Given the description of an element on the screen output the (x, y) to click on. 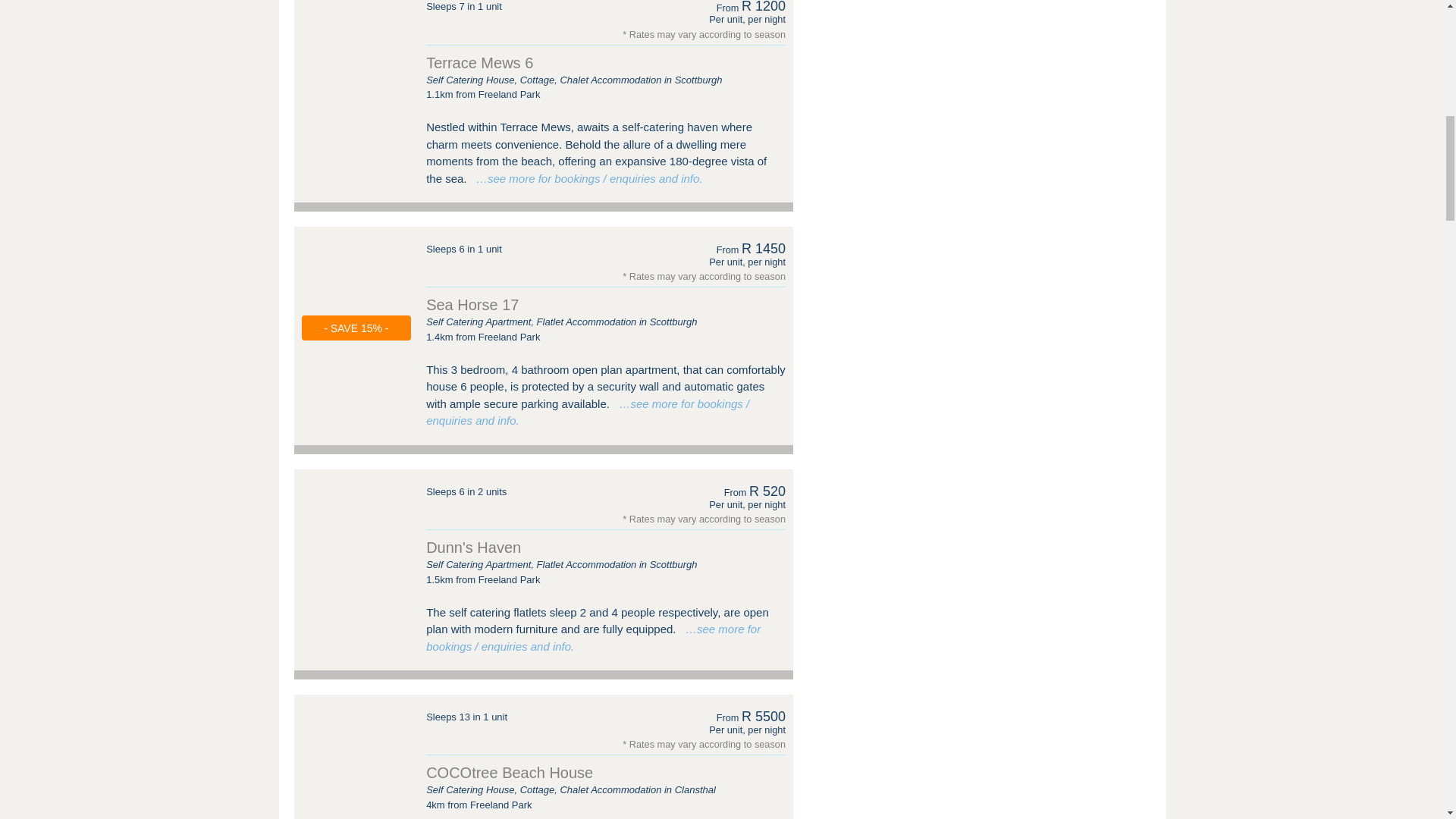
Sleeps 6 in 1 unit (464, 249)
Sea Horse 17 (356, 270)
Dunn's Haven (356, 512)
Terrace Mews 6 (356, 32)
Terrace Mews 6 (479, 62)
Sea Horse 17 (472, 304)
COCOtree Beach House (356, 737)
Sleeps 7 in 1 unit (464, 7)
